Given the description of an element on the screen output the (x, y) to click on. 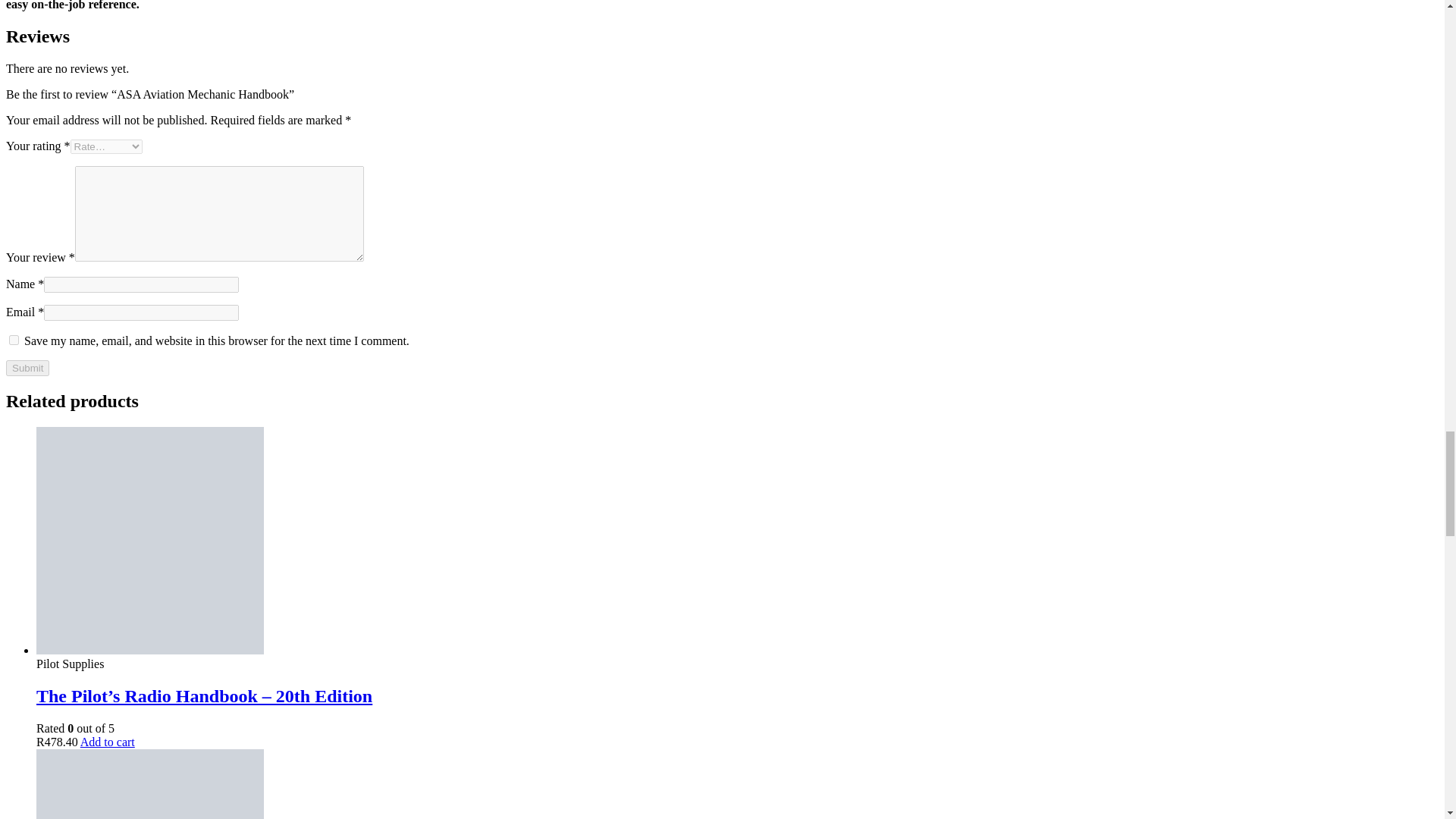
yes (13, 339)
Submit (27, 367)
